Given the description of an element on the screen output the (x, y) to click on. 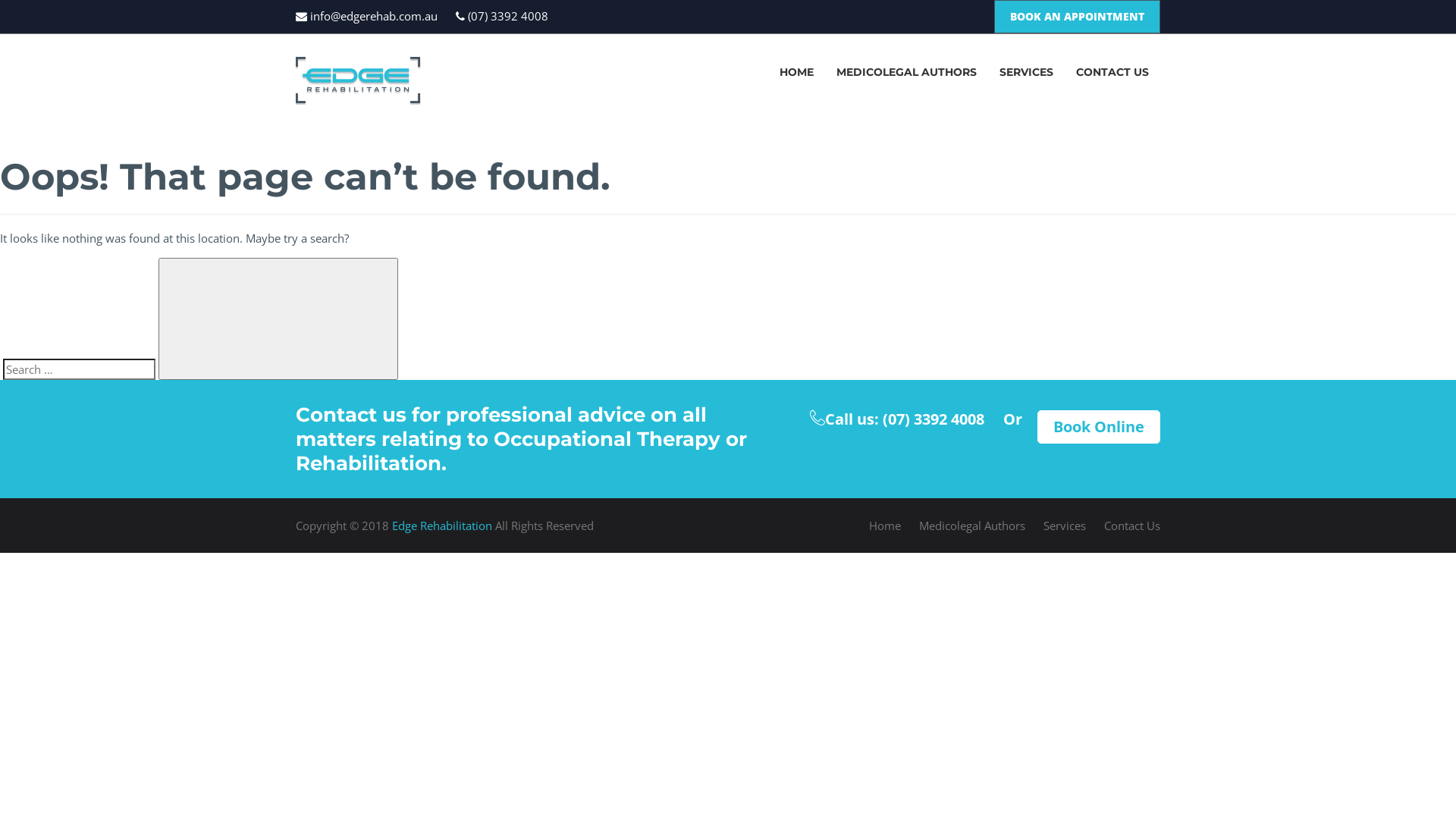
MEDICOLEGAL AUTHORS Element type: text (906, 71)
info@edgerehab.com.au Element type: text (366, 15)
Home Element type: text (884, 525)
(07) 3392 4008 Element type: text (501, 15)
BOOK AN APPOINTMENT Element type: text (1077, 16)
Book Online Element type: text (1098, 426)
Contact Us Element type: text (1132, 525)
Medicolegal Authors Element type: text (972, 525)
Edge Rehabilitation Element type: text (442, 525)
HOME Element type: text (796, 71)
Search Element type: text (278, 318)
Services Element type: text (1064, 525)
SERVICES Element type: text (1026, 71)
CONTACT US Element type: text (1112, 71)
